Given the description of an element on the screen output the (x, y) to click on. 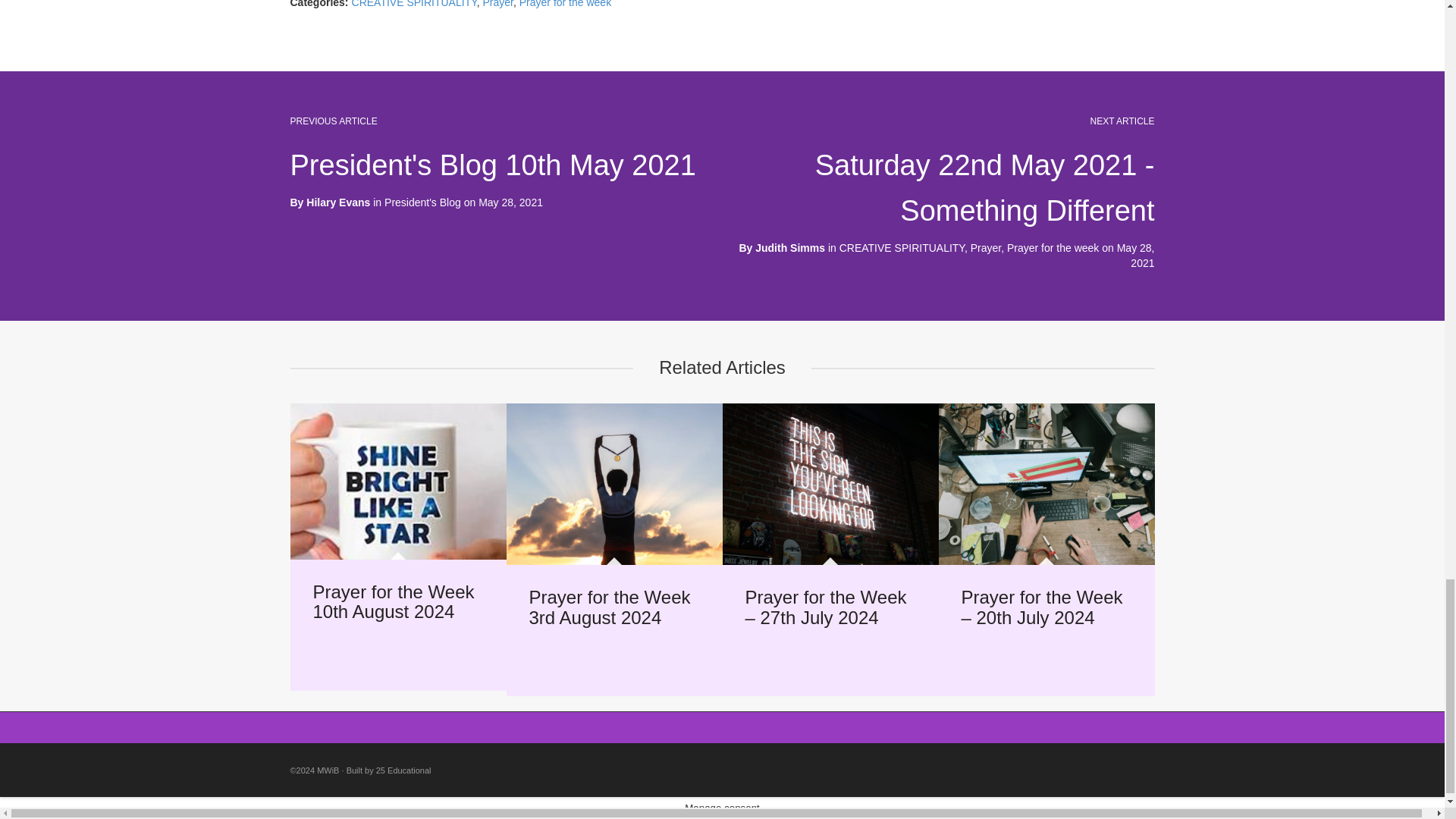
Prayer (986, 247)
CREATIVE SPIRITUALITY (414, 4)
CREATIVE SPIRITUALITY (901, 247)
Hilary Evans (337, 202)
Prayer for the week (565, 4)
Prayer for the week (1053, 247)
Saturday 22nd May 2021 - Something Different (984, 187)
Prayer for the Week 10th August 2024 (393, 601)
President's Blog (422, 202)
President's Blog 10th May 2021 (492, 164)
